Given the description of an element on the screen output the (x, y) to click on. 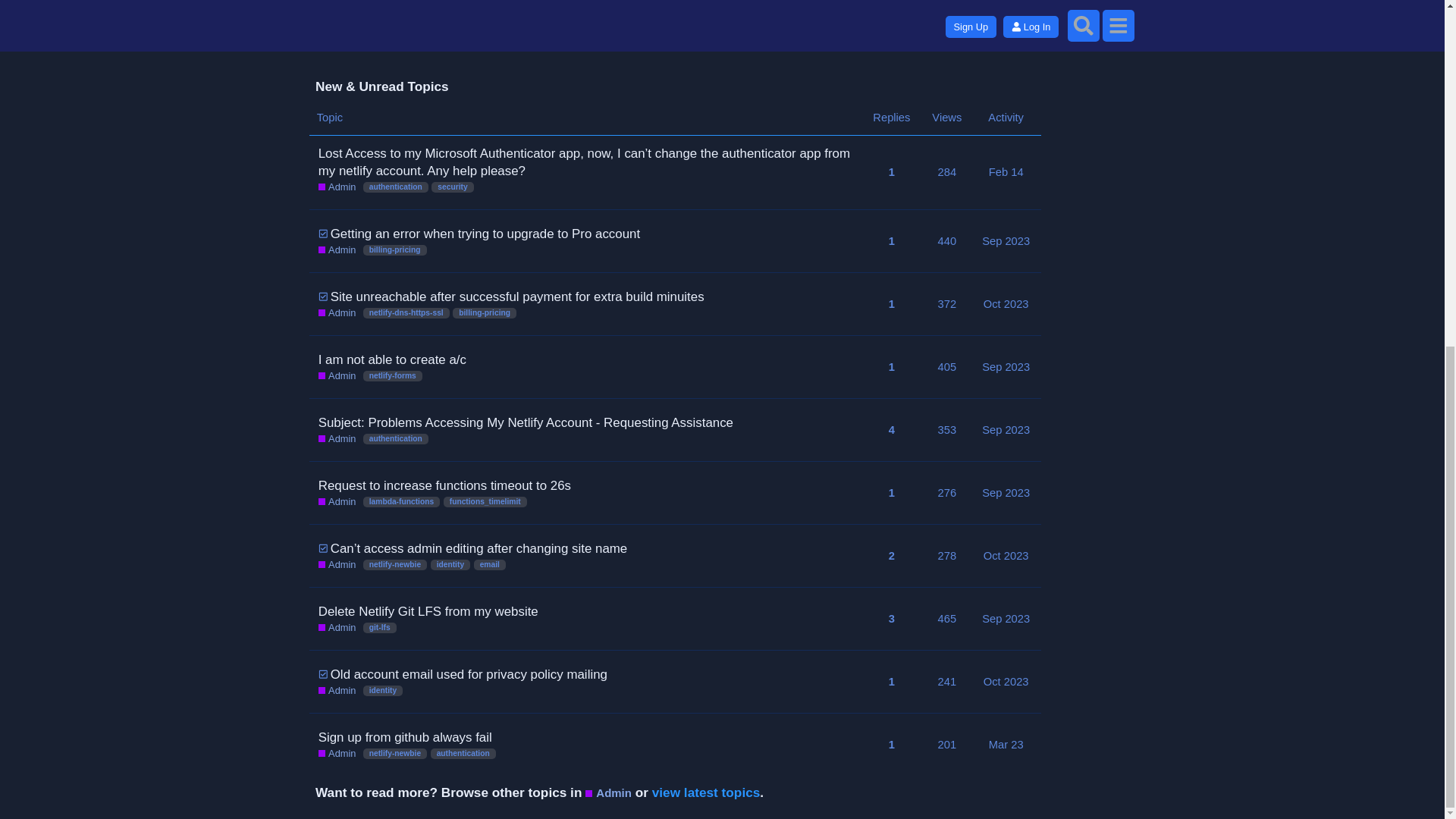
authentication (395, 186)
Reply (845, 26)
Feb 14 (1006, 171)
Admin (337, 187)
security (451, 186)
Getting an error when trying to upgrade to Pro account (485, 233)
